Given the description of an element on the screen output the (x, y) to click on. 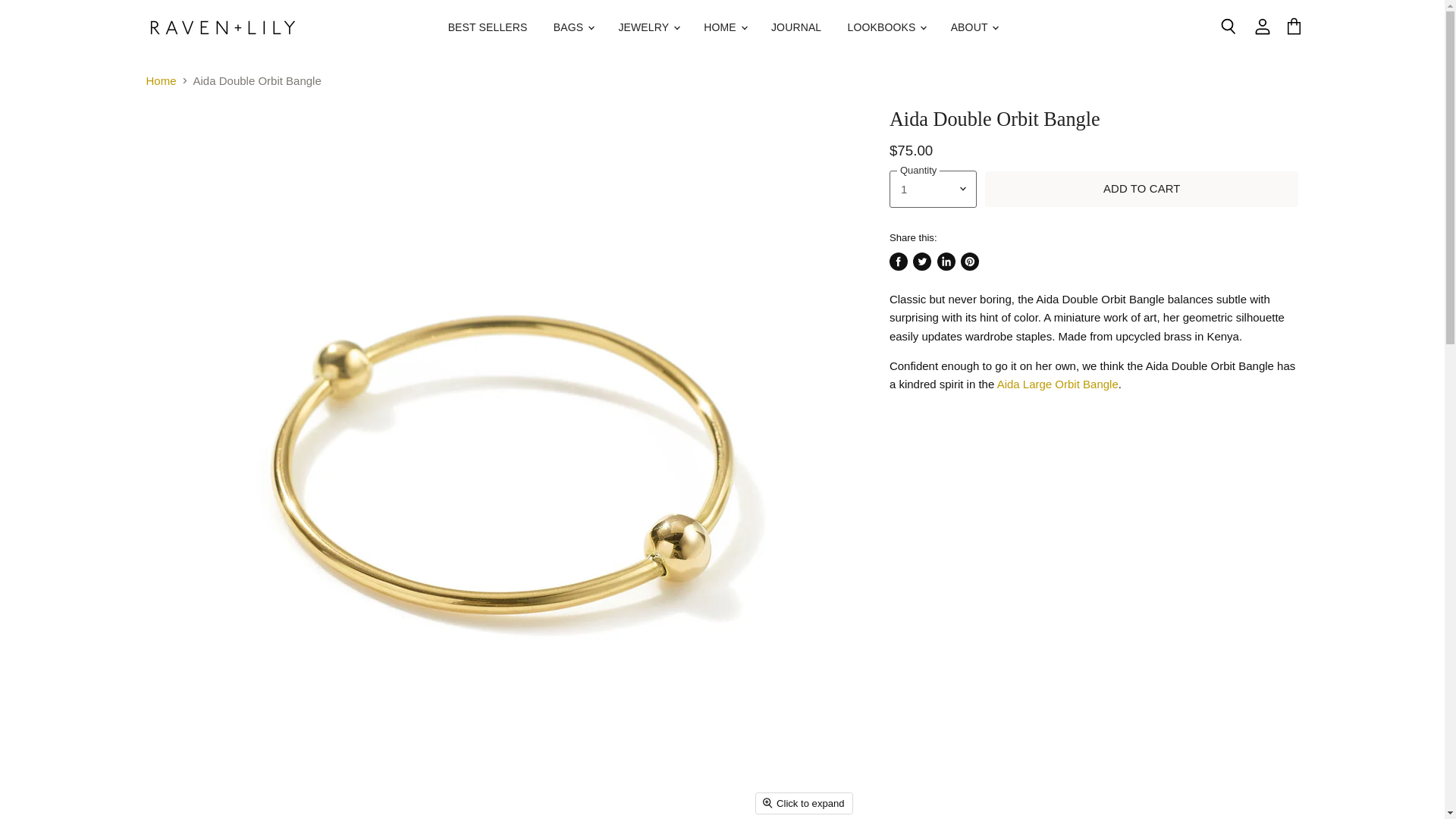
HOME (725, 27)
JEWELRY (647, 27)
LOOKBOOKS (885, 27)
BEST SELLERS (487, 27)
BAGS (572, 27)
ABOUT (974, 27)
JOURNAL (796, 27)
Aida Large Orbit Bangle (1057, 383)
